Given the description of an element on the screen output the (x, y) to click on. 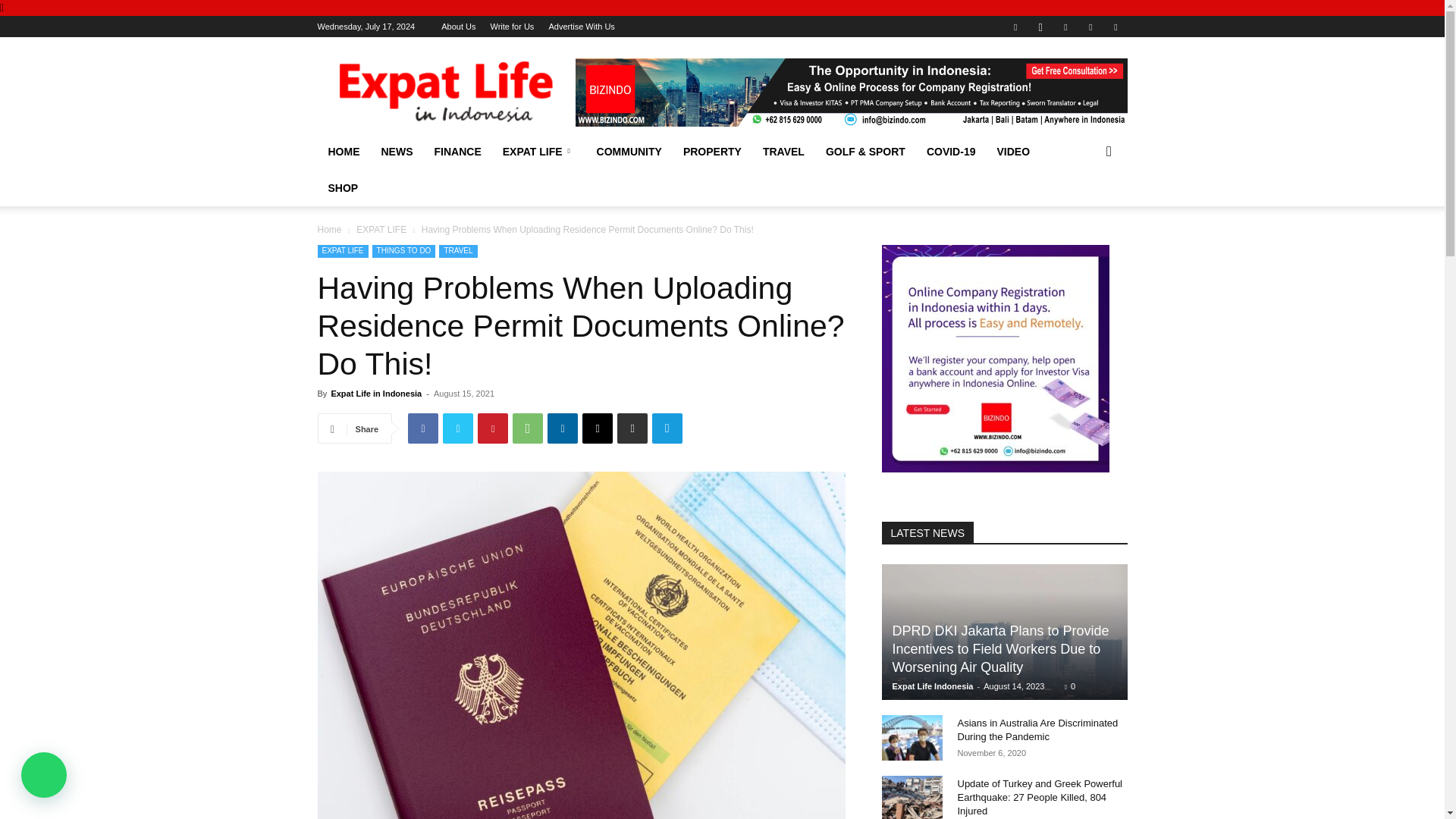
Write for Us (511, 26)
Twitter (1090, 25)
About Us (458, 26)
Facebook (1015, 25)
Instagram (1040, 25)
Advertise With Us (581, 26)
HOME (343, 151)
Youtube (1114, 25)
Linkedin (1065, 25)
